Given the description of an element on the screen output the (x, y) to click on. 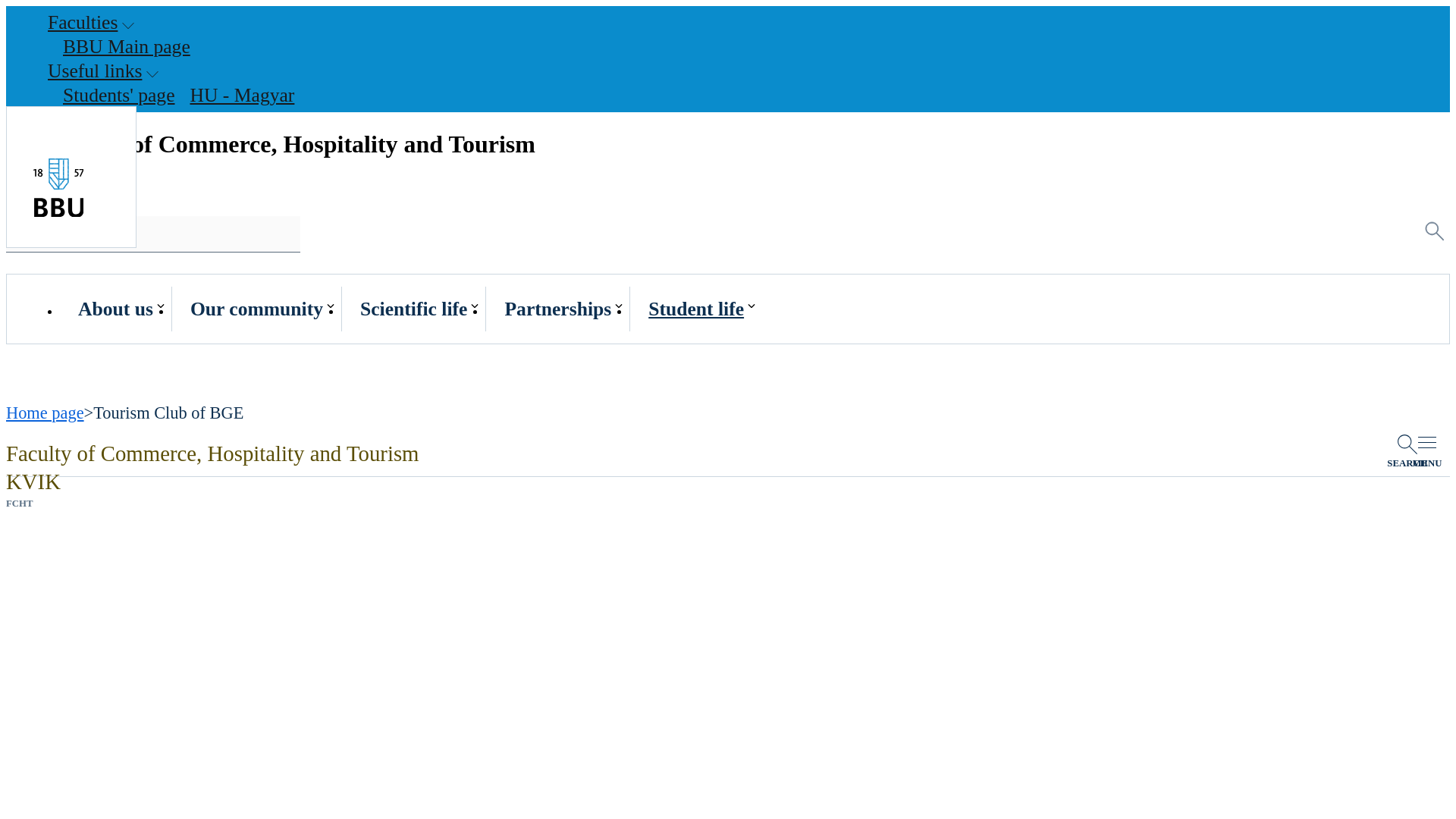
Students' page (118, 95)
Faculties (85, 22)
Student life (695, 310)
Skip to Content (52, 7)
HU - Magyar (241, 95)
Useful links (97, 70)
BBU Main page (126, 46)
